Given the description of an element on the screen output the (x, y) to click on. 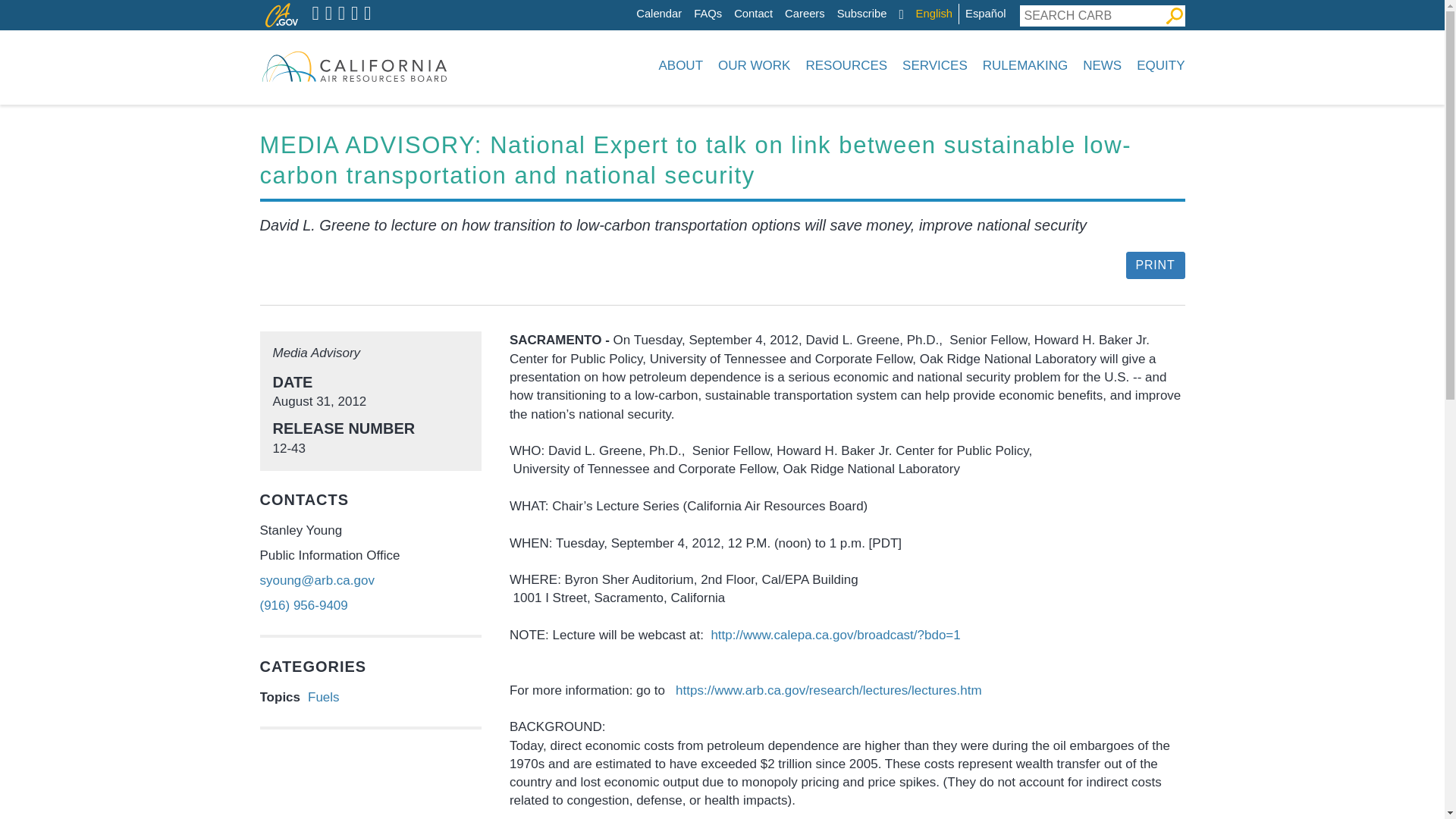
Contact (753, 14)
ABOUT (680, 65)
NEWS (1102, 65)
Calendar (658, 14)
Search (1174, 15)
Home (353, 65)
Subscribe (861, 14)
Search (1174, 15)
RESOURCES (846, 65)
Careers (804, 14)
OUR WORK (753, 65)
RULEMAKING (1025, 65)
Skip to main content (639, 4)
SERVICES (935, 65)
English (933, 14)
